Given the description of an element on the screen output the (x, y) to click on. 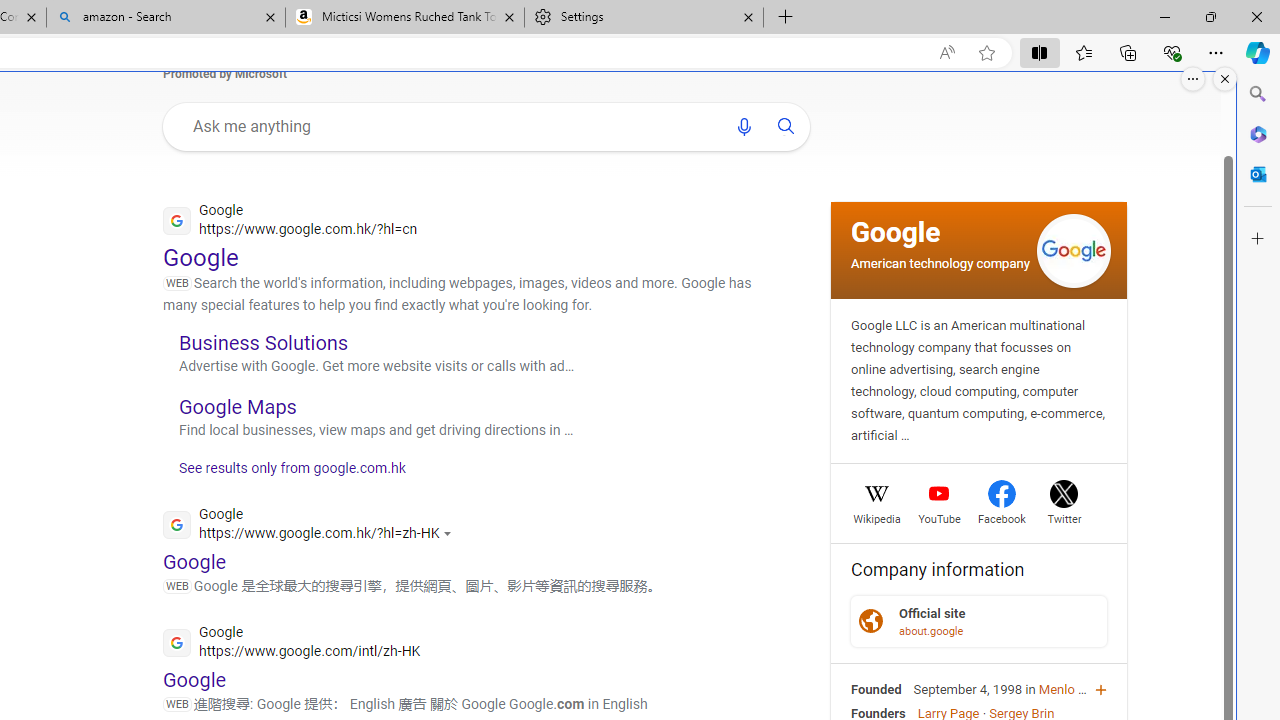
Close split screen. (1225, 79)
Twitter (1064, 516)
Ask me anything (449, 126)
American technology company (940, 262)
See results only from google.com.hk (283, 473)
Menlo Park (1071, 688)
